Given the description of an element on the screen output the (x, y) to click on. 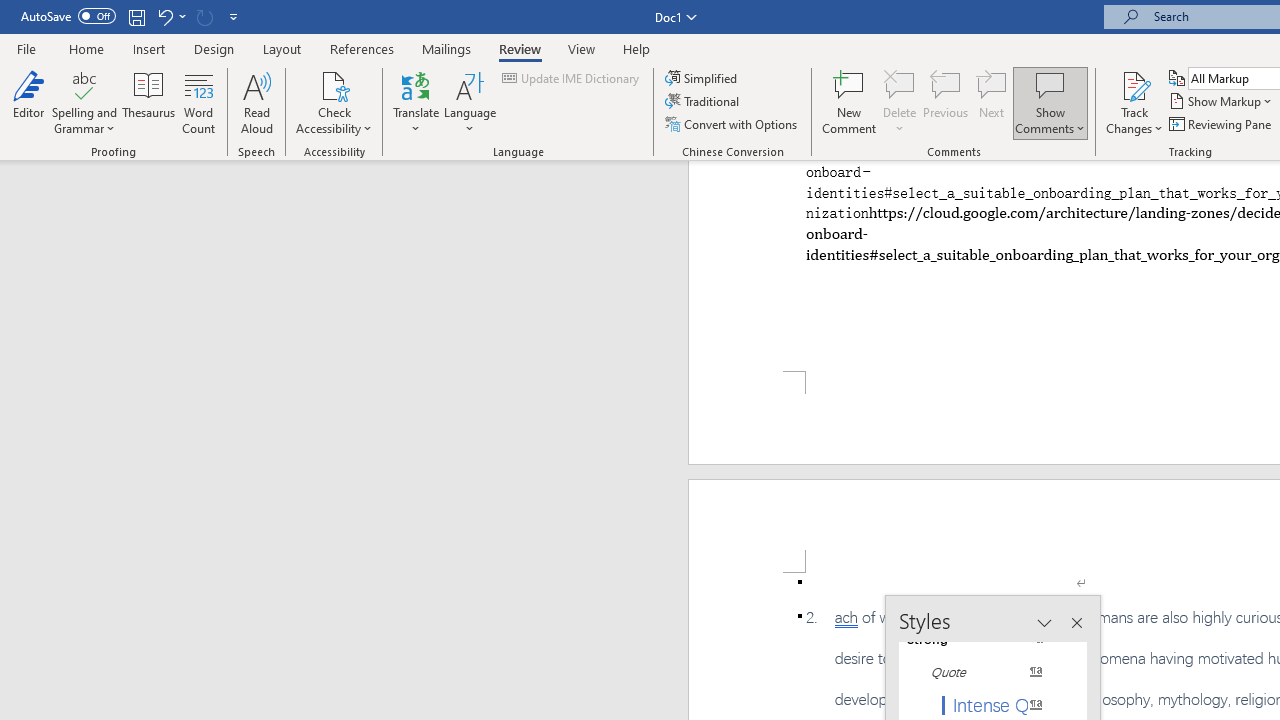
Language (470, 102)
Translate (415, 102)
Word Count (198, 102)
Delete (900, 102)
Delete (900, 84)
Check Accessibility (334, 84)
Strong (984, 638)
Update IME Dictionary... (572, 78)
New Comment (849, 102)
